Given the description of an element on the screen output the (x, y) to click on. 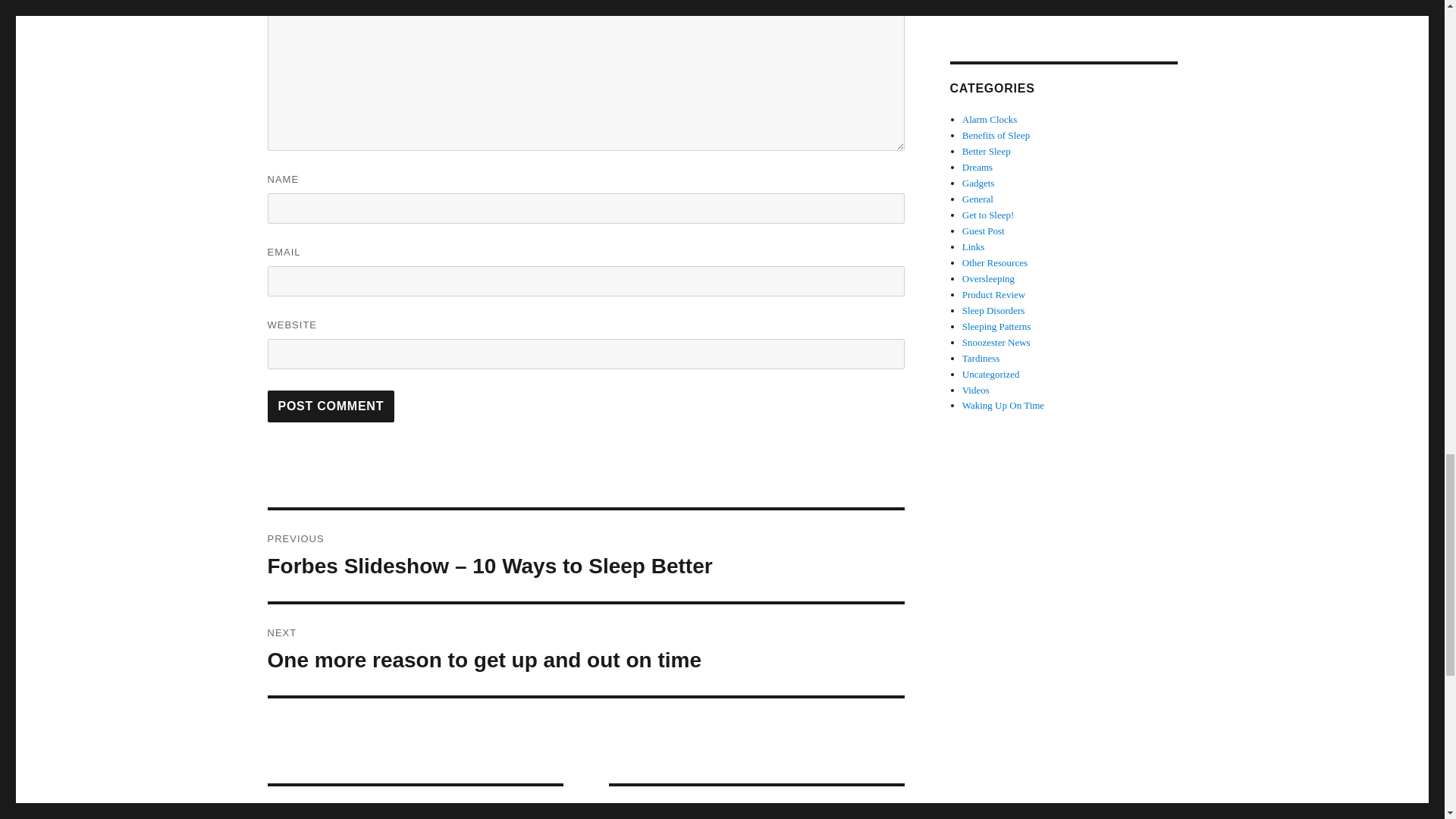
Post Comment (330, 406)
Next Next post: One more reason to get up and out on time (585, 649)
Post Comment (585, 649)
